Given the description of an element on the screen output the (x, y) to click on. 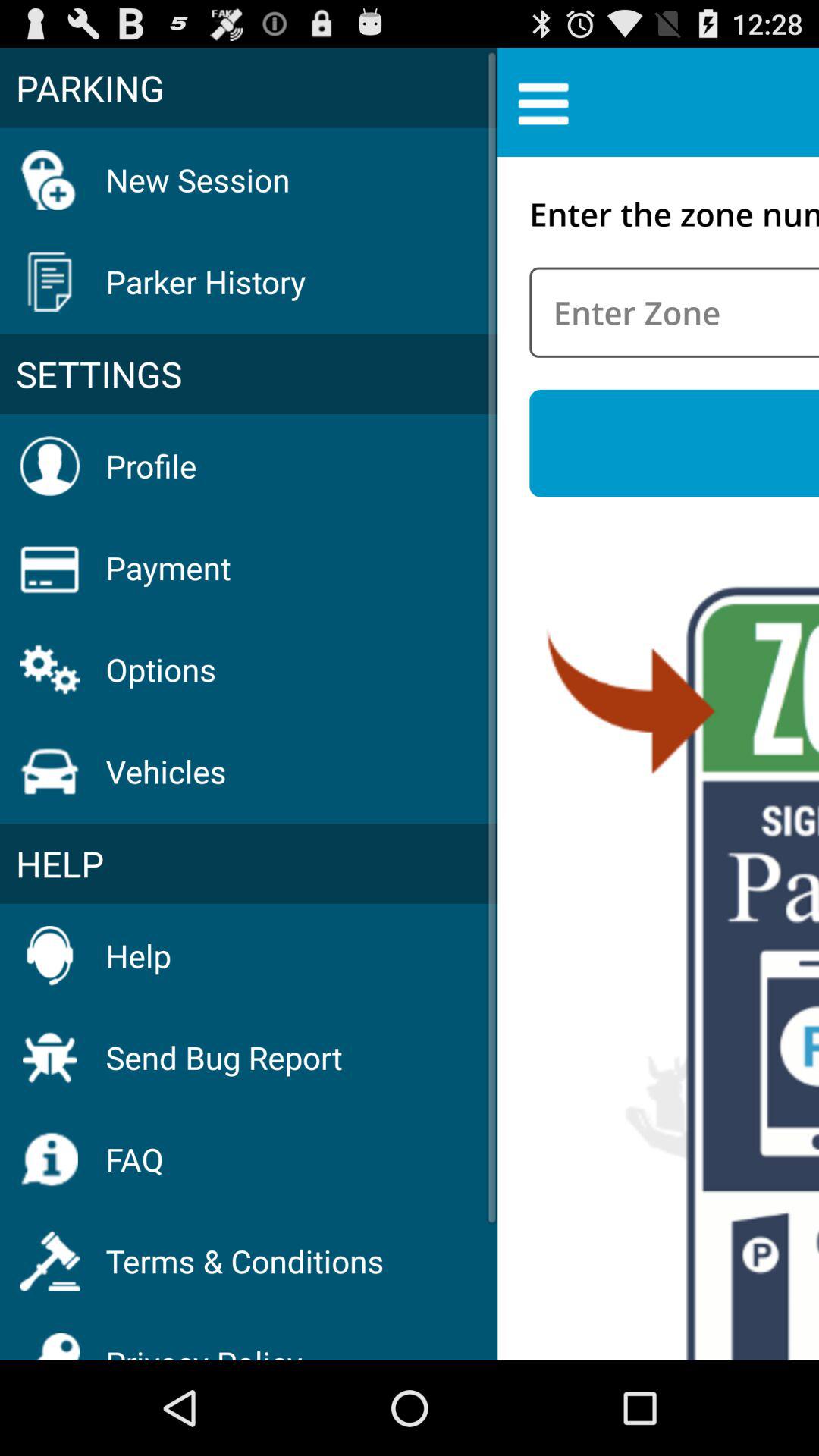
swipe to payment icon (167, 567)
